Given the description of an element on the screen output the (x, y) to click on. 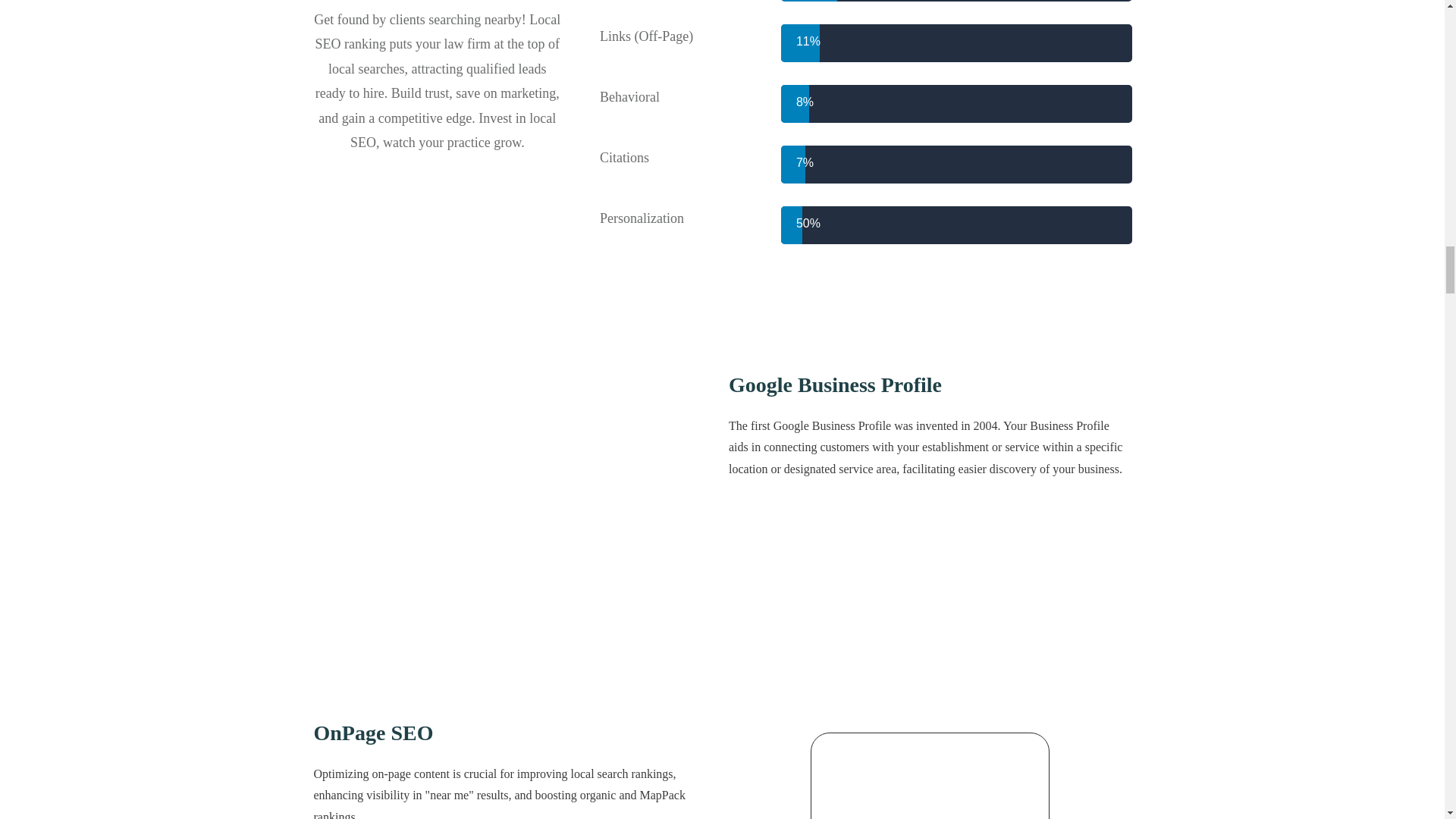
GBP (514, 527)
SEO (929, 776)
